Given the description of an element on the screen output the (x, y) to click on. 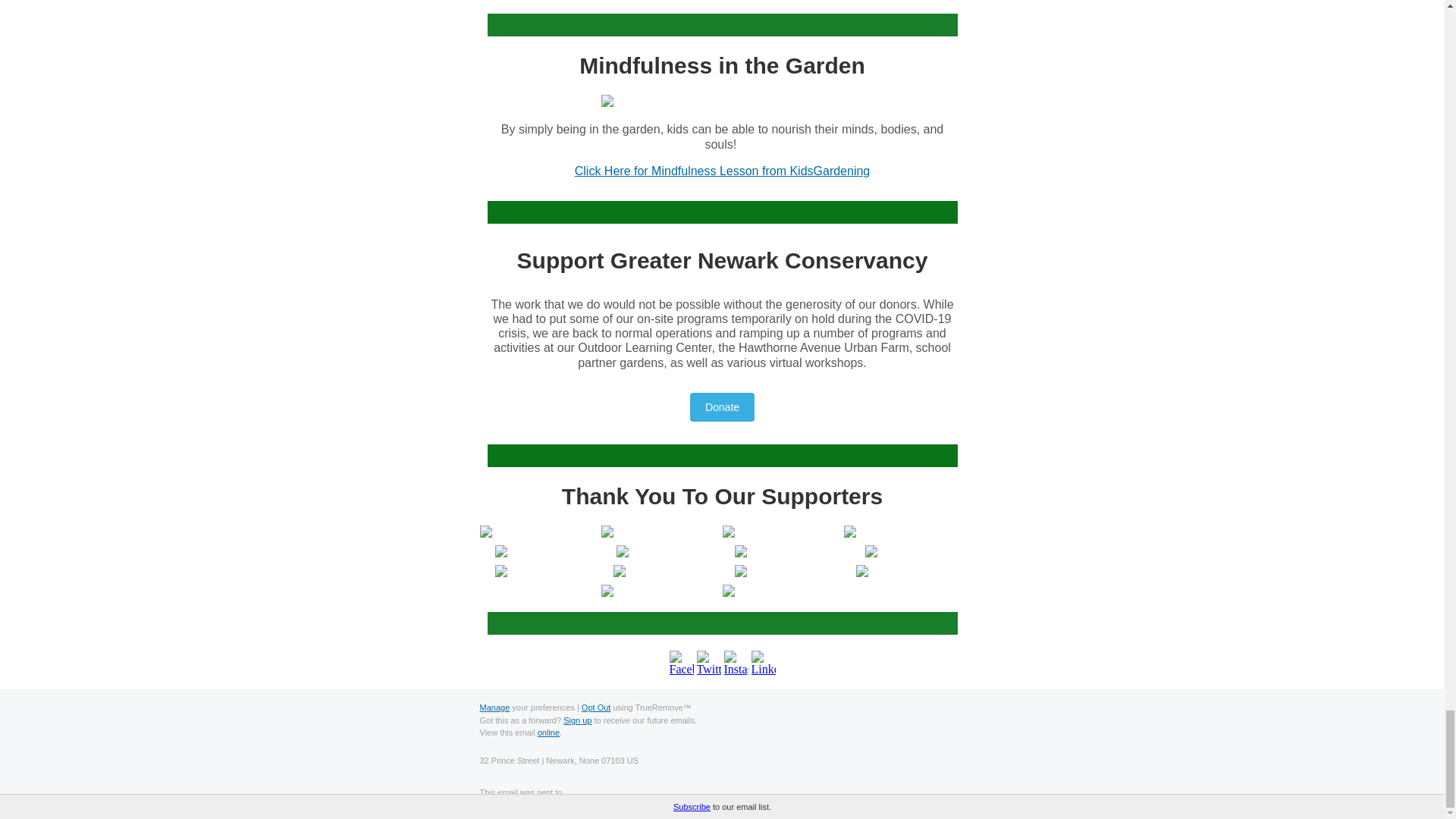
Manage (494, 706)
Donate (722, 407)
Instagram (735, 662)
Sign up (577, 719)
Facebook (680, 662)
Click Here for Mindfulness Lesson from KidsGardening (722, 170)
Opt Out (595, 706)
online (548, 732)
LinkedIn (762, 662)
Twitter (707, 662)
